Given the description of an element on the screen output the (x, y) to click on. 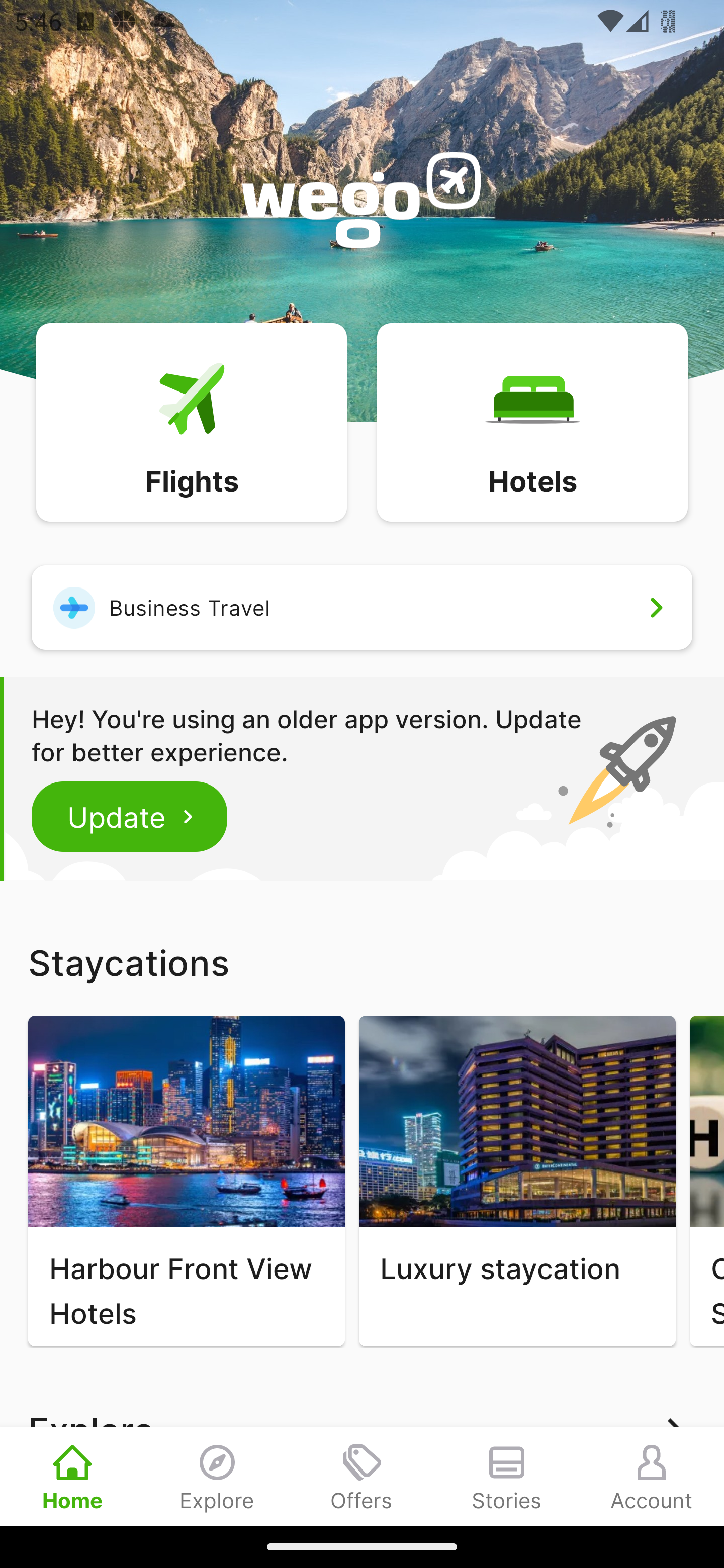
Flights (191, 420)
Hotels (532, 420)
Business Travel (361, 607)
Update (129, 815)
Staycations (362, 962)
Harbour Front View Hotels (186, 1181)
Luxury staycation (517, 1181)
Explore (216, 1475)
Offers (361, 1475)
Stories (506, 1475)
Account (651, 1475)
